Given the description of an element on the screen output the (x, y) to click on. 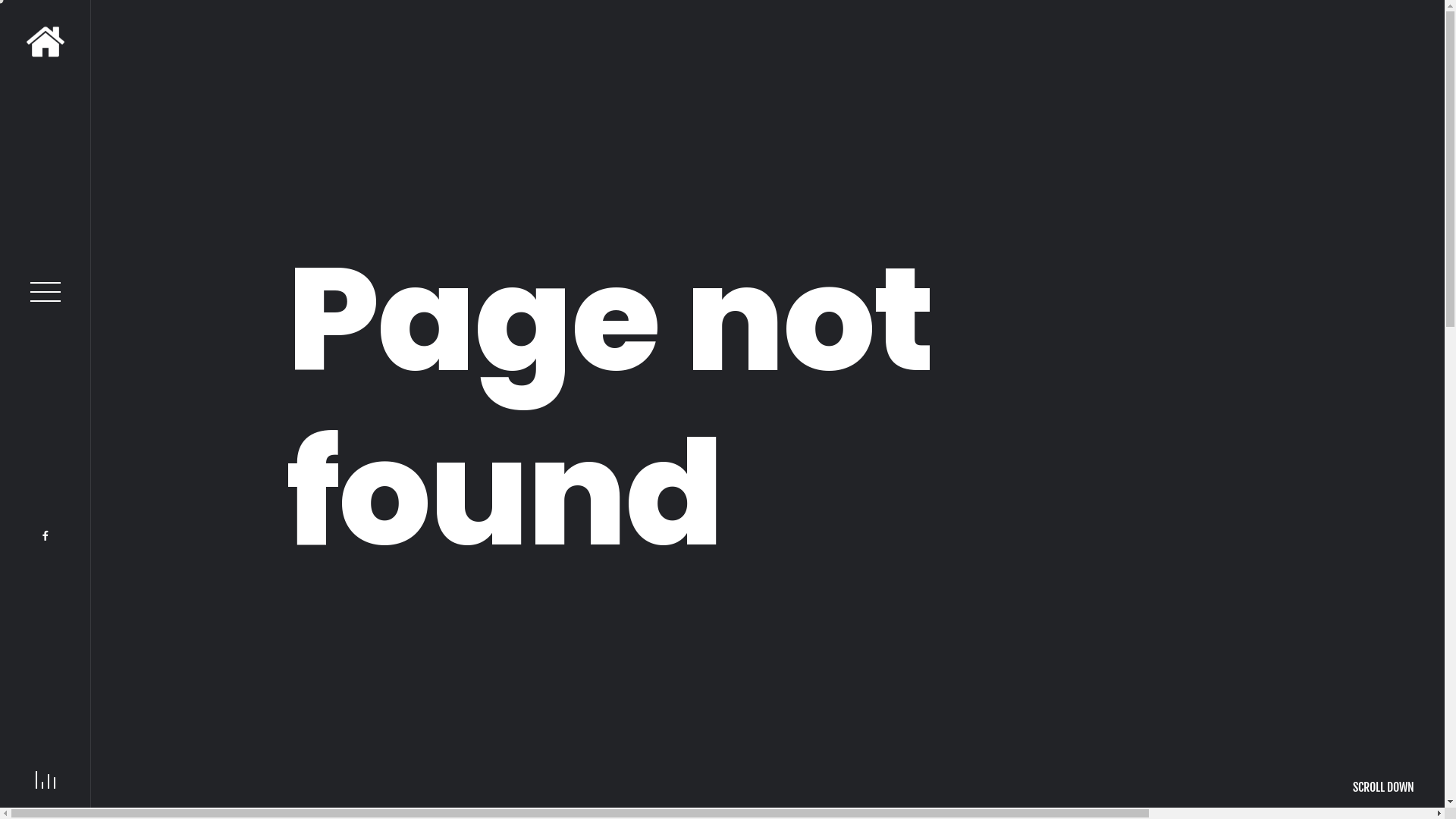
Logan Web Dev Element type: text (1180, 762)
Get in touch Element type: text (266, 556)
+001-336-889-4021 Element type: text (622, 687)
fab fa-facebook-f Element type: hover (45, 535)
+001-336-889-4021 Element type: text (283, 672)
SCROLL DOWN Element type: text (1383, 786)
